Given the description of an element on the screen output the (x, y) to click on. 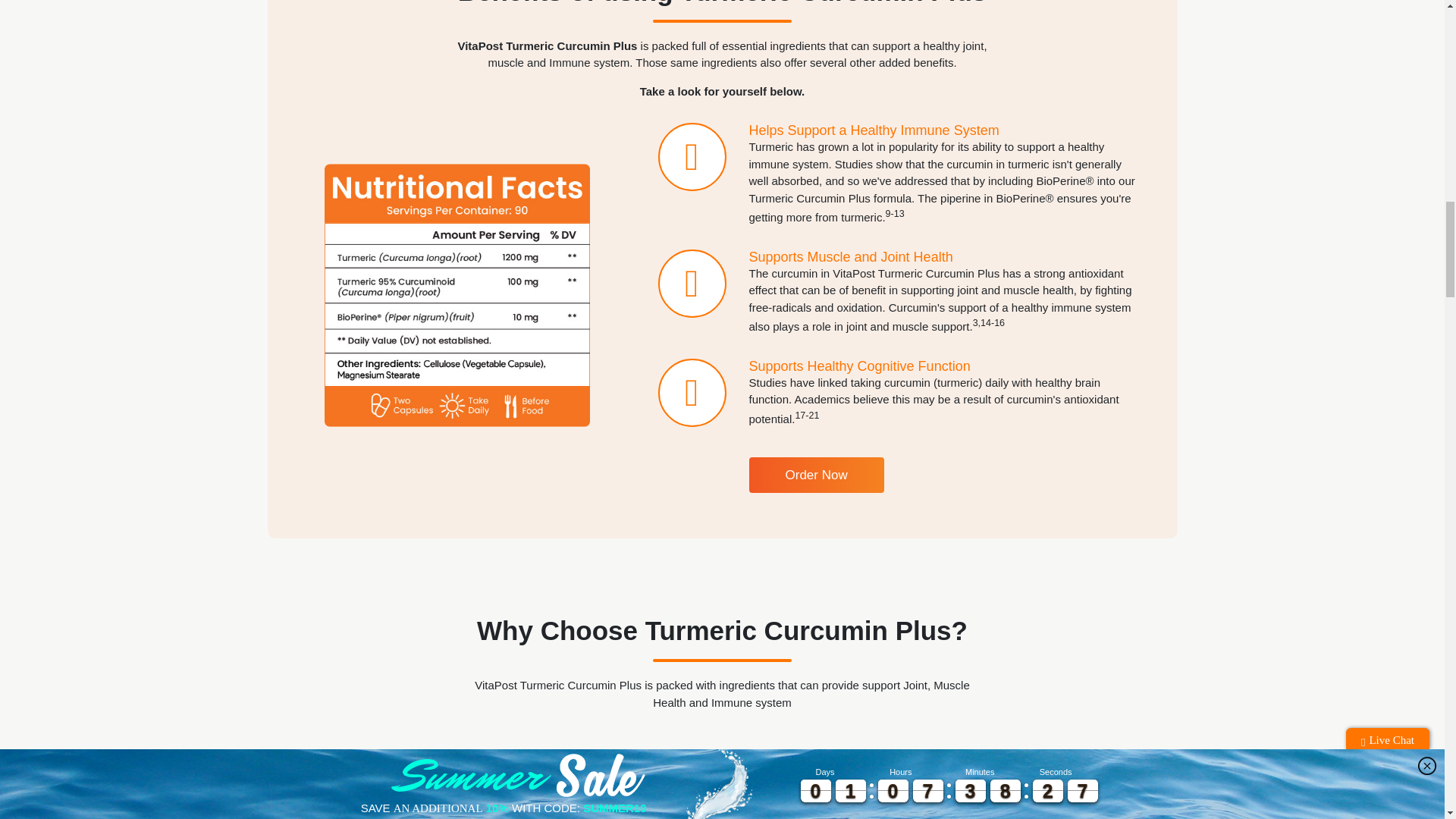
Order Now (816, 474)
